Given the description of an element on the screen output the (x, y) to click on. 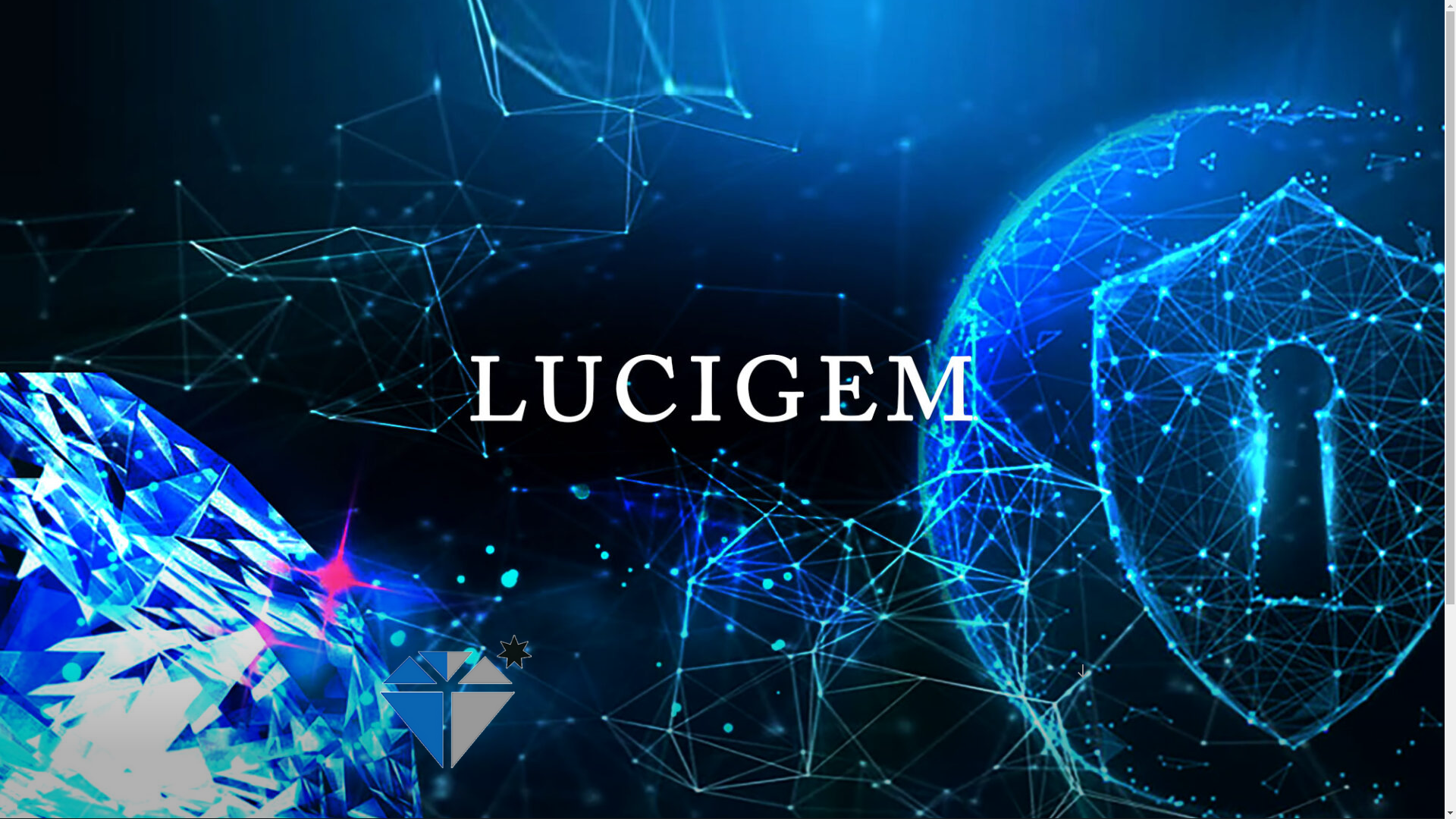
Scroll down to content Element type: text (1082, 670)
LUCIGEM Element type: text (451, 798)
